Given the description of an element on the screen output the (x, y) to click on. 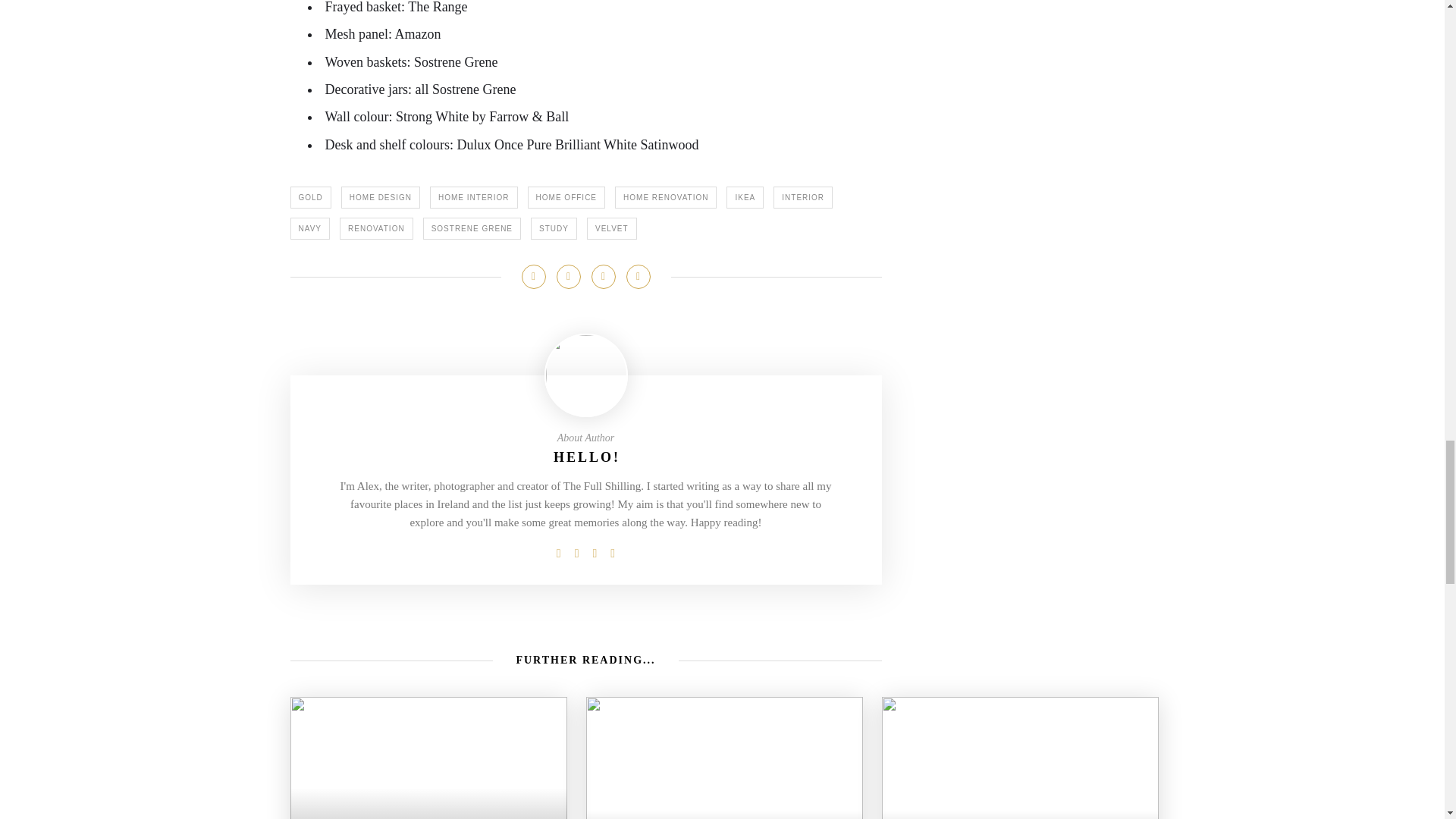
Posts by Alex (586, 457)
